Given the description of an element on the screen output the (x, y) to click on. 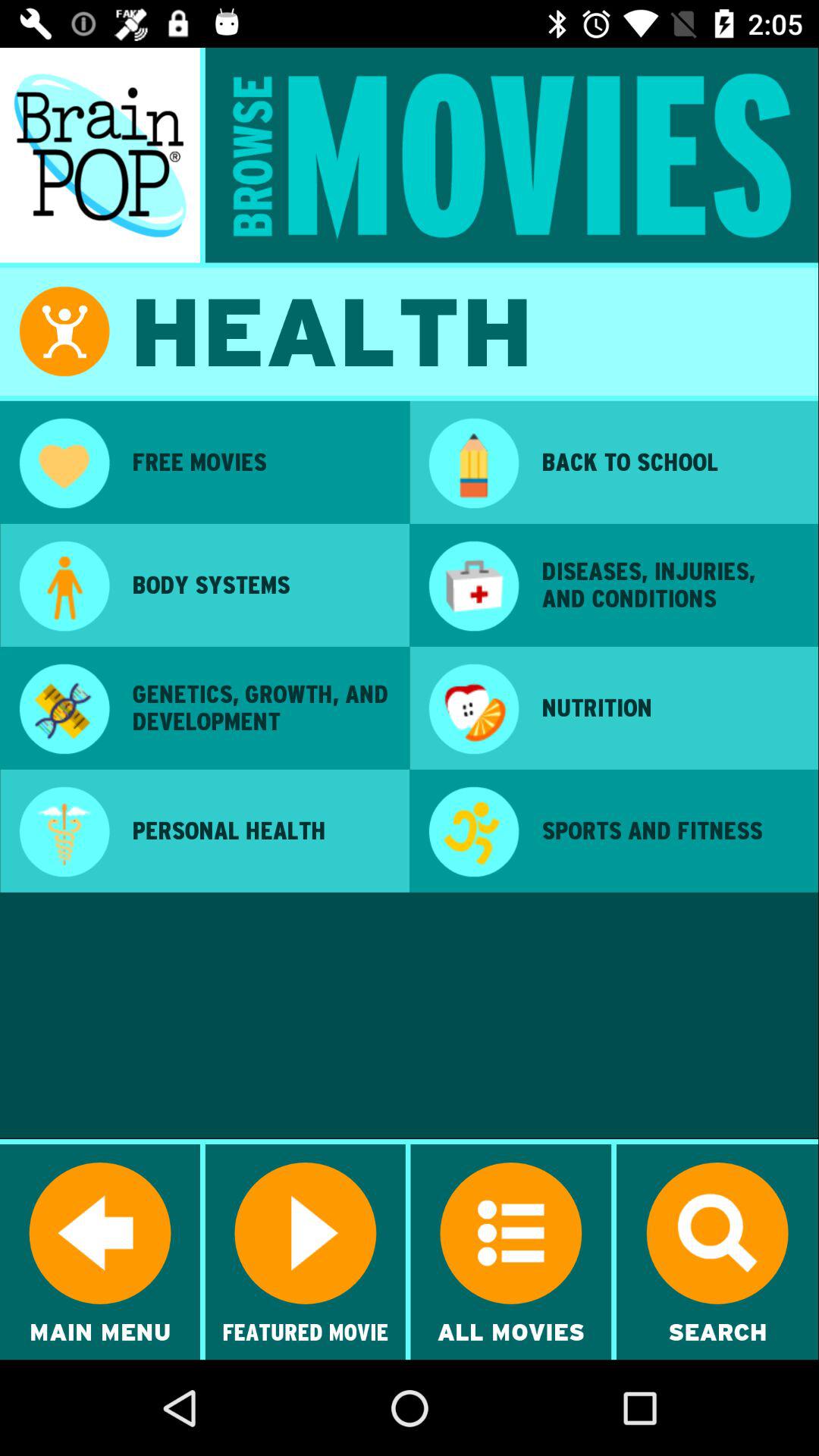
select the app to the left of back to school item (473, 464)
